Given the description of an element on the screen output the (x, y) to click on. 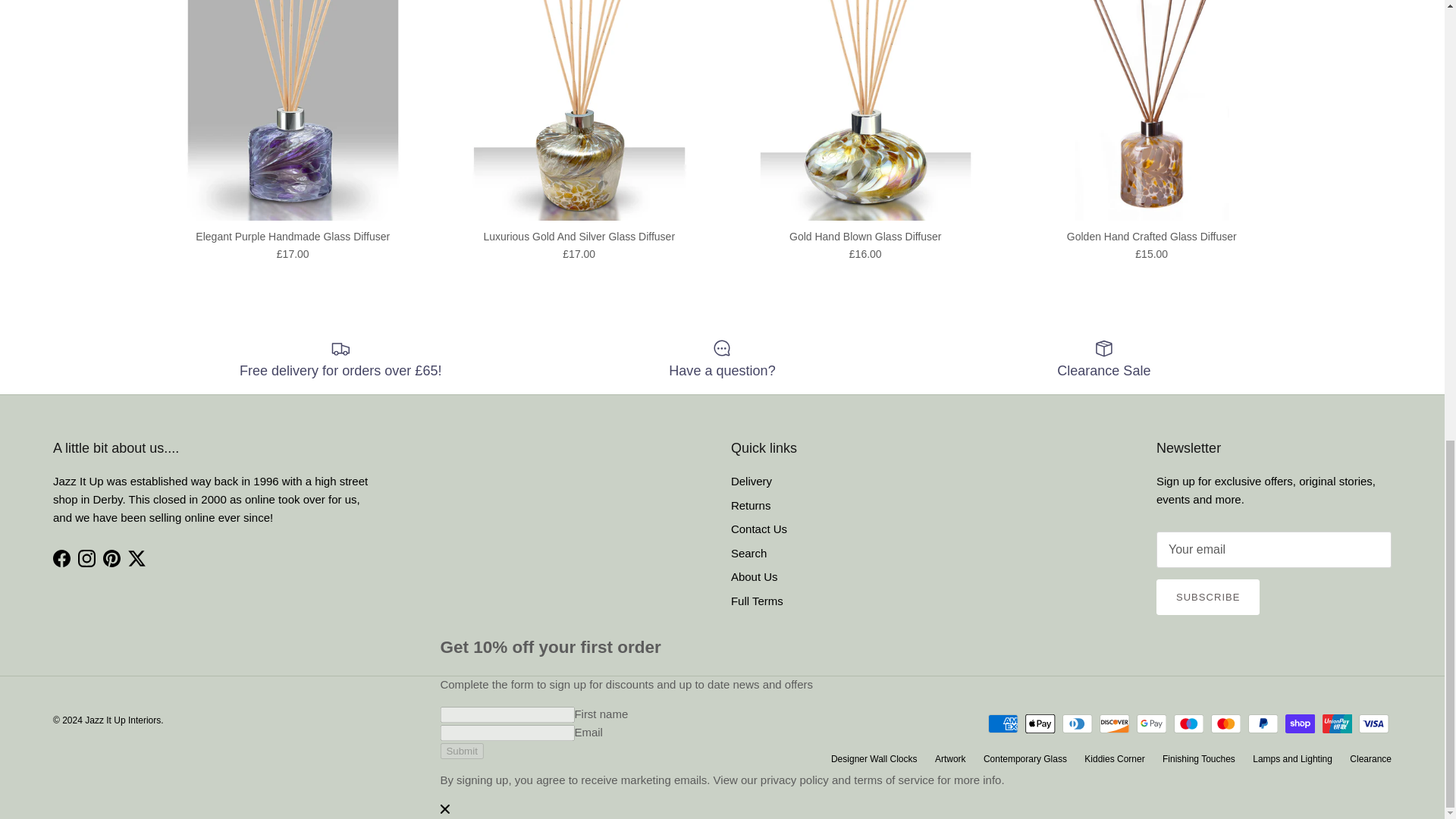
Jazz It Up Interiors on Instagram (87, 558)
Jazz It Up Interiors on Pinterest (111, 558)
Jazz It Up Interiors on Facebook (60, 558)
Jazz It Up Interiors on Twitter (136, 558)
